Given the description of an element on the screen output the (x, y) to click on. 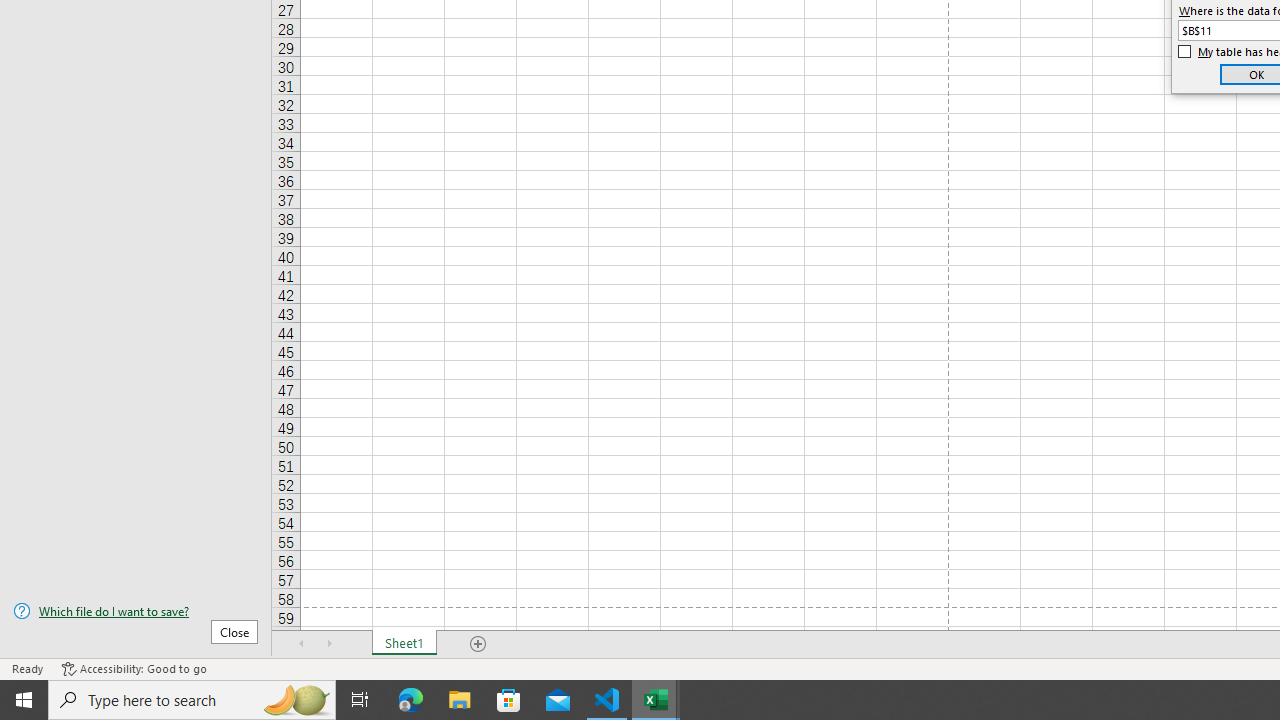
Accessibility Checker Accessibility: Good to go (134, 668)
Close (234, 631)
Sheet1 (404, 644)
Add Sheet (478, 644)
Scroll Left (302, 644)
Which file do I want to save? (136, 611)
Scroll Right (330, 644)
